Given the description of an element on the screen output the (x, y) to click on. 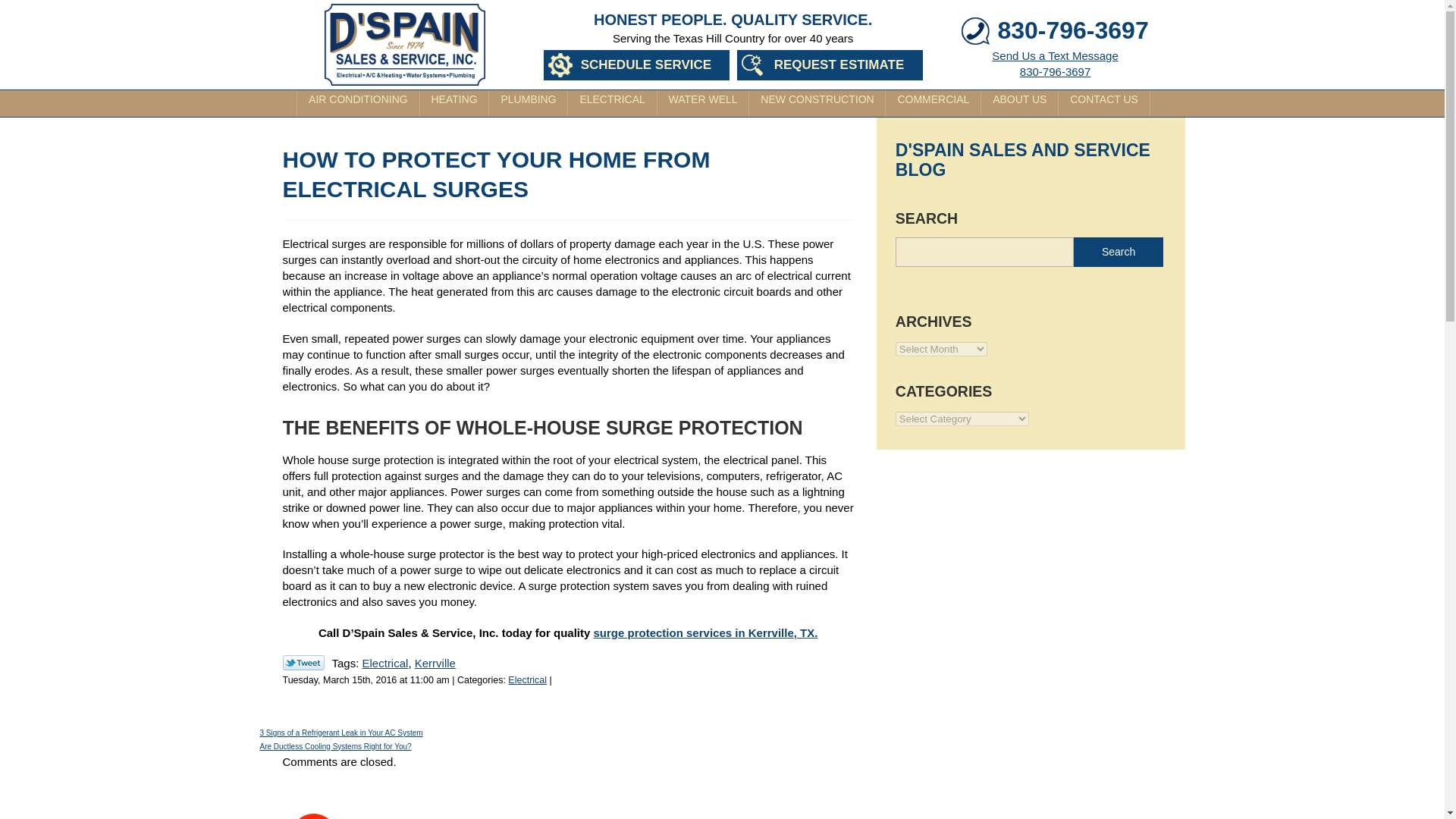
830-796-3697 (1072, 30)
AIR CONDITIONING (358, 103)
REQUEST ESTIMATE (829, 64)
SCHEDULE SERVICE (1054, 63)
HEATING (636, 64)
